Given the description of an element on the screen output the (x, y) to click on. 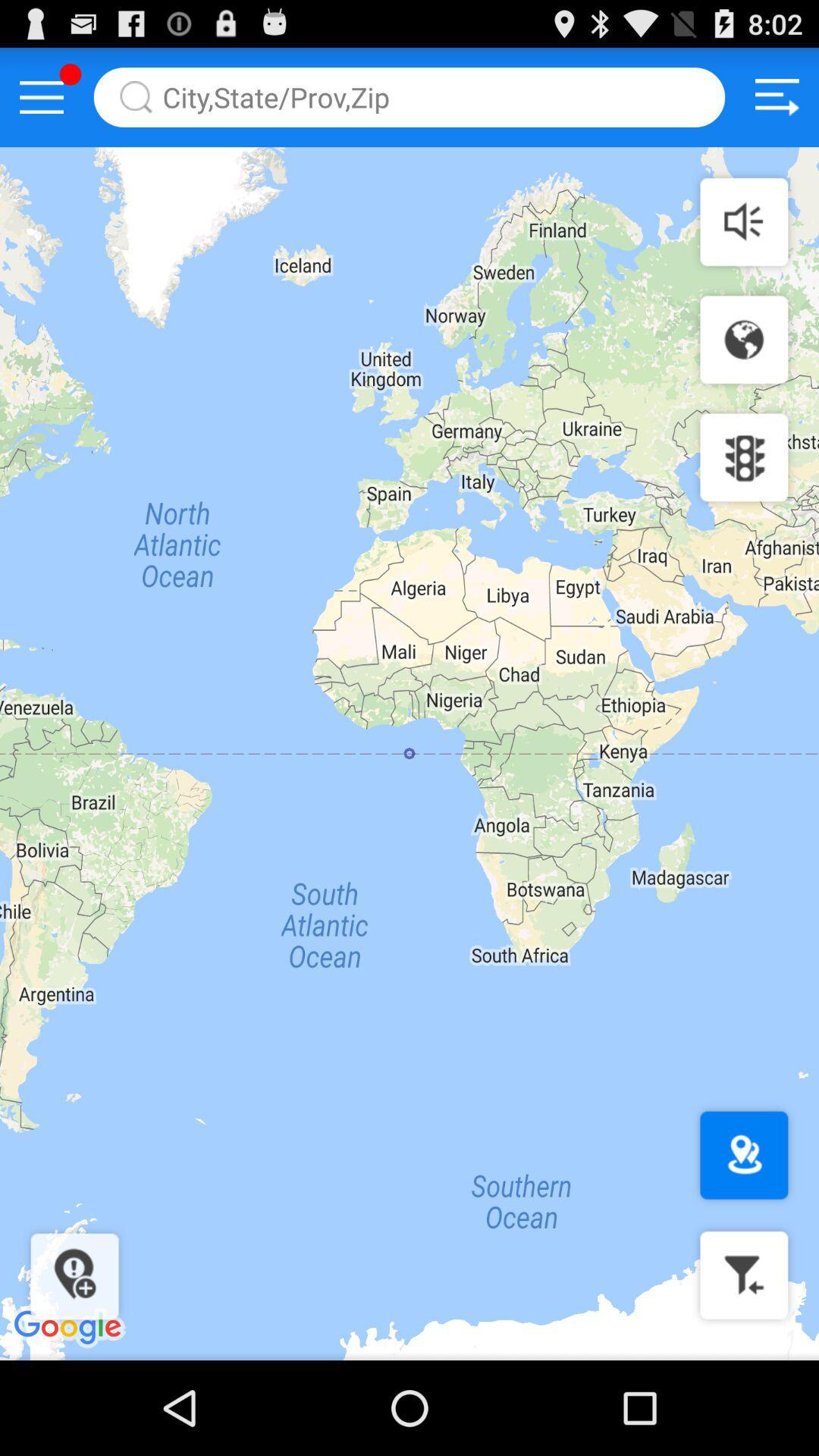
location (744, 1155)
